Given the description of an element on the screen output the (x, y) to click on. 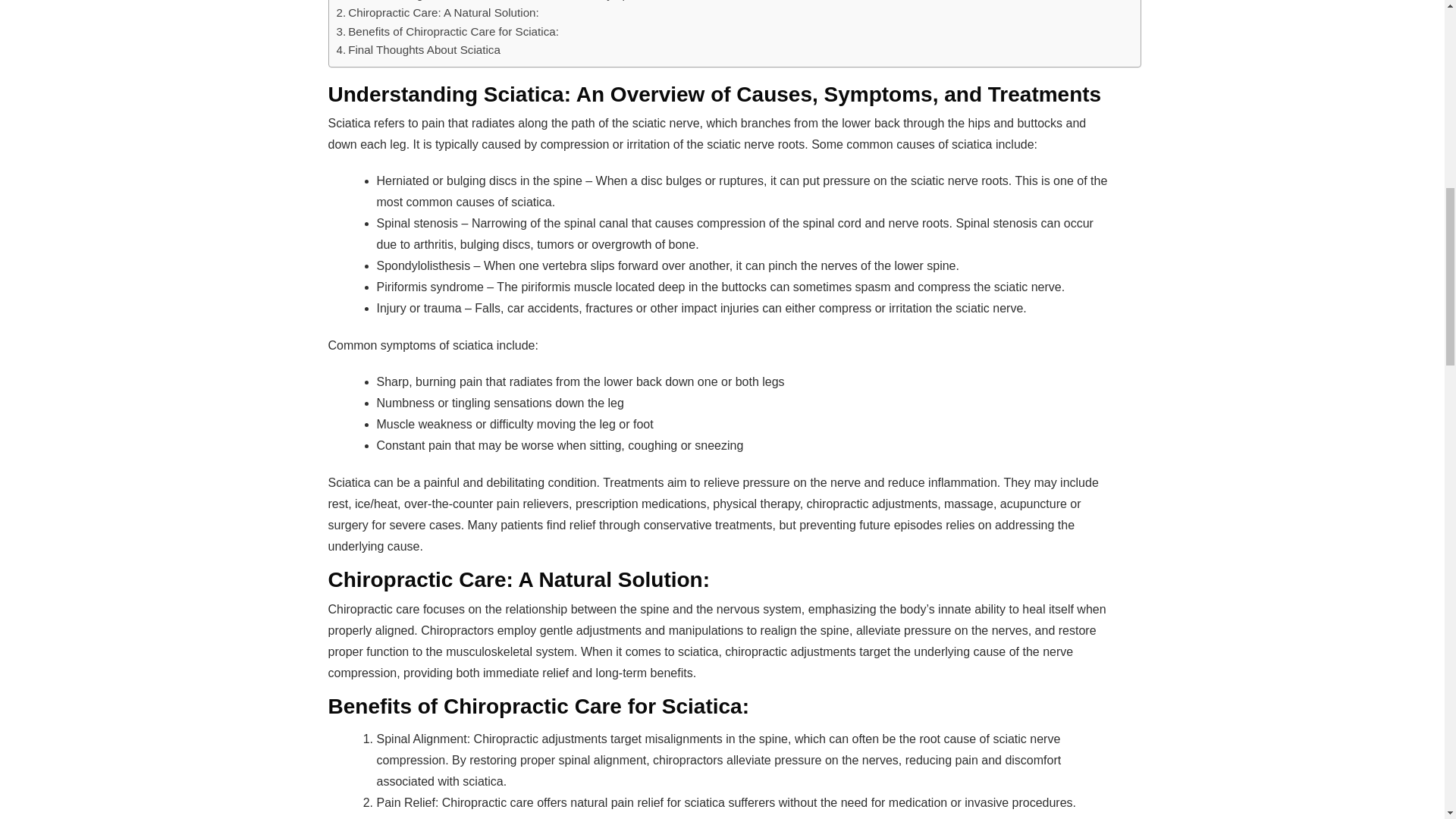
Benefits of Chiropractic Care for Sciatica: (447, 31)
Final Thoughts About Sciatica (418, 49)
Chiropractic Care: A Natural Solution: (437, 13)
